Given the description of an element on the screen output the (x, y) to click on. 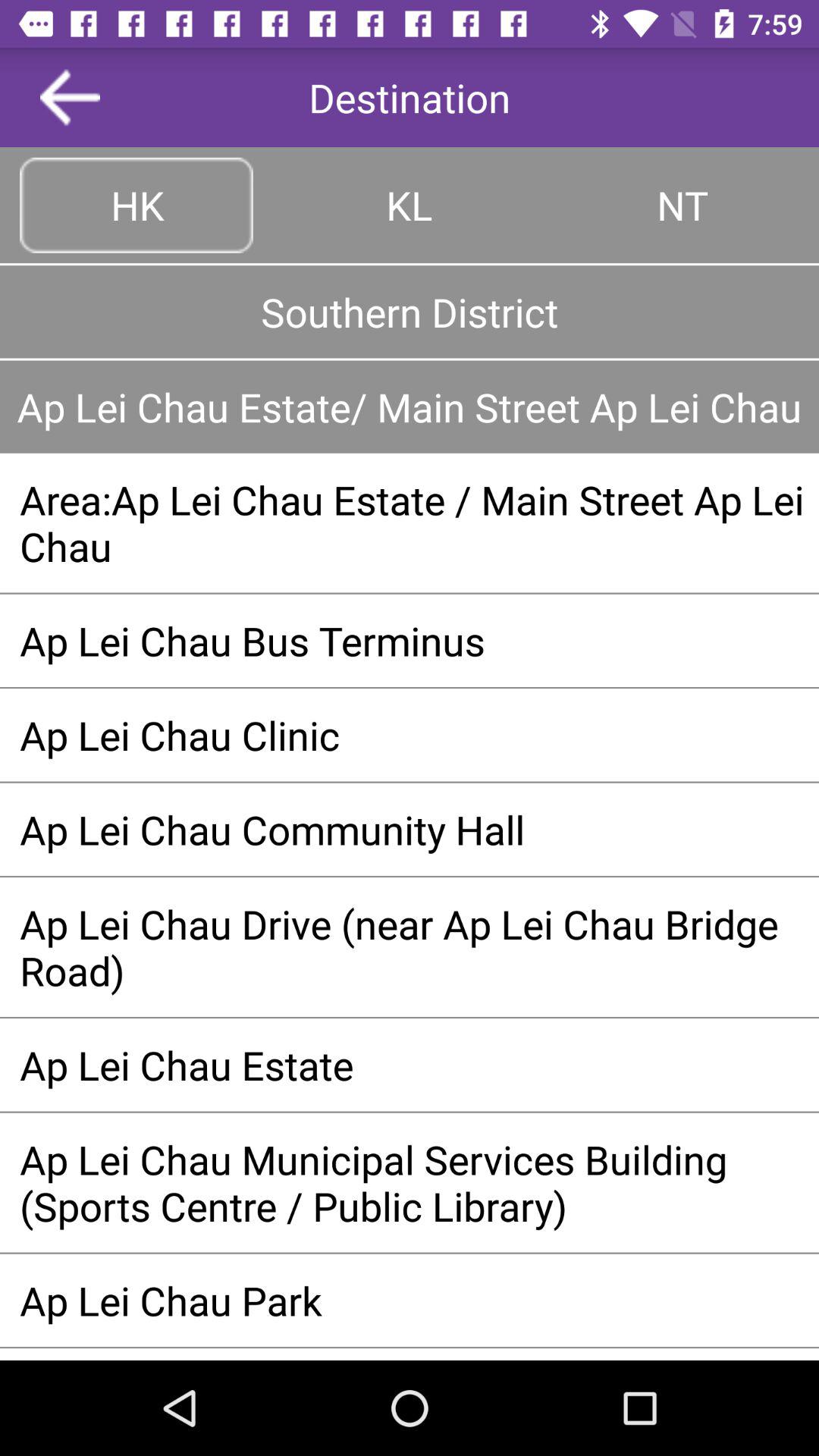
jump to area ap lei item (409, 522)
